Given the description of an element on the screen output the (x, y) to click on. 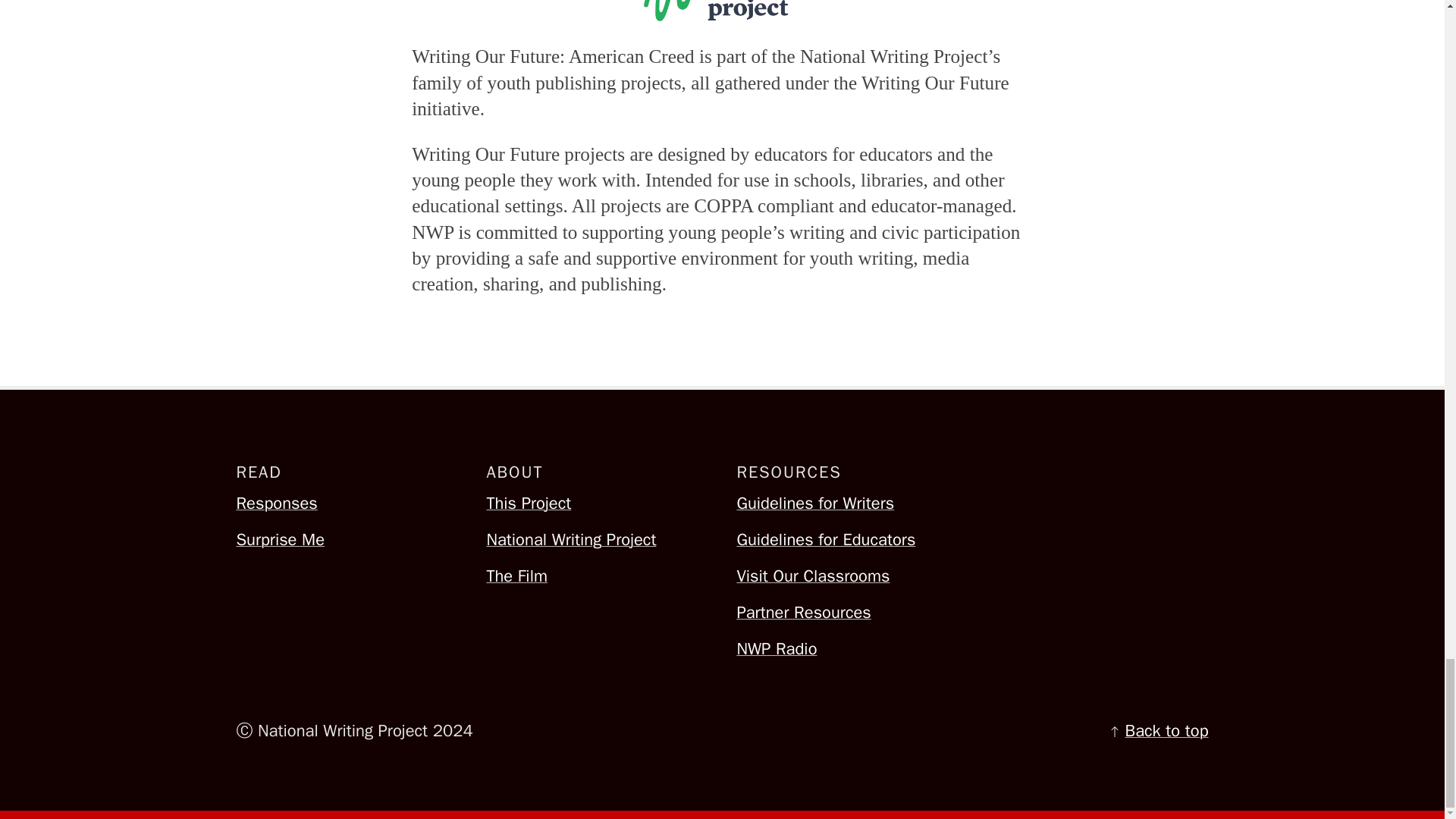
National Writing Project (596, 540)
Surprise Me (346, 540)
Responses (346, 504)
This Project (596, 504)
